Given the description of an element on the screen output the (x, y) to click on. 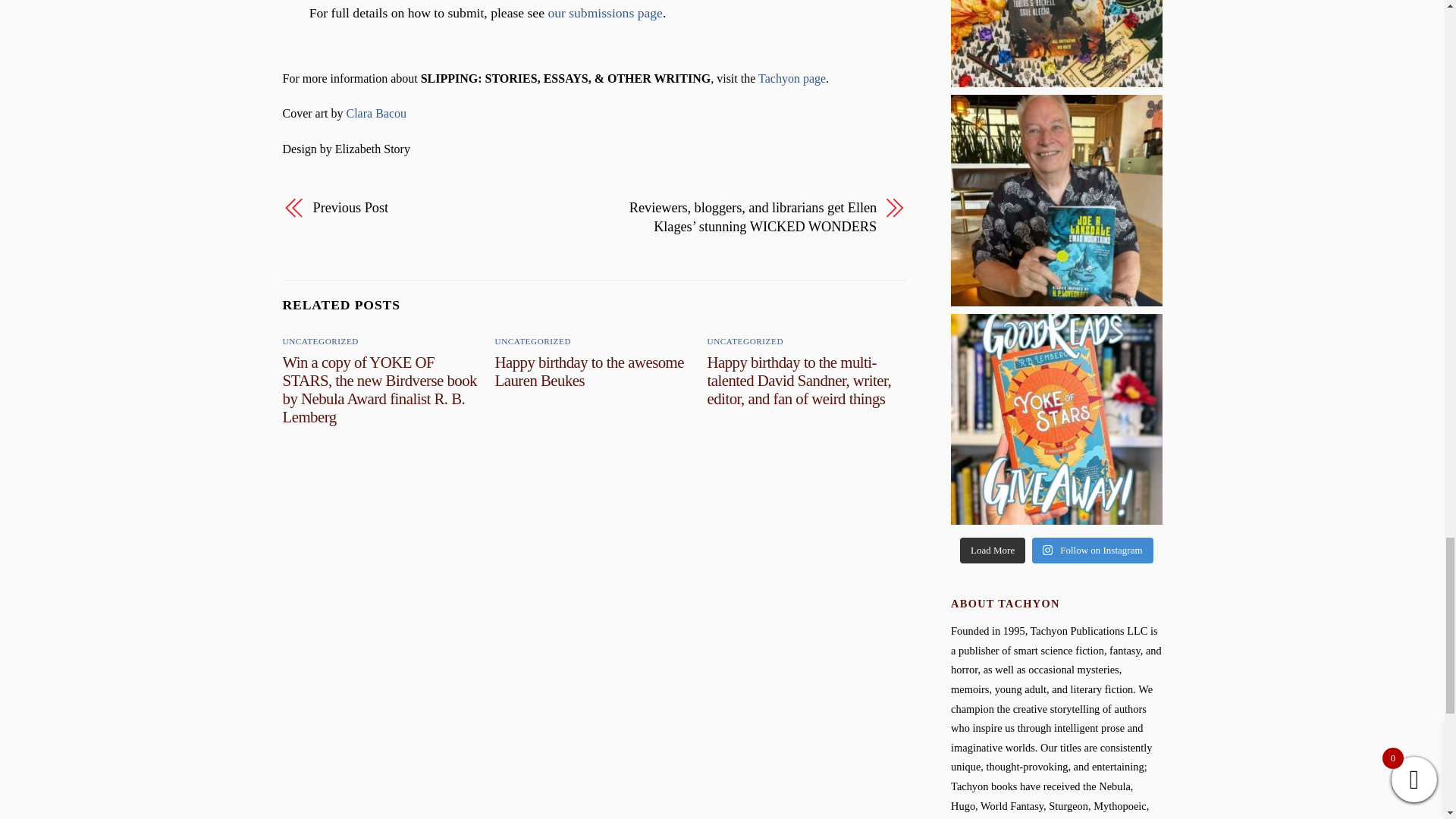
Happy birthday to the awesome Lauren Beukes (589, 370)
